Given the description of an element on the screen output the (x, y) to click on. 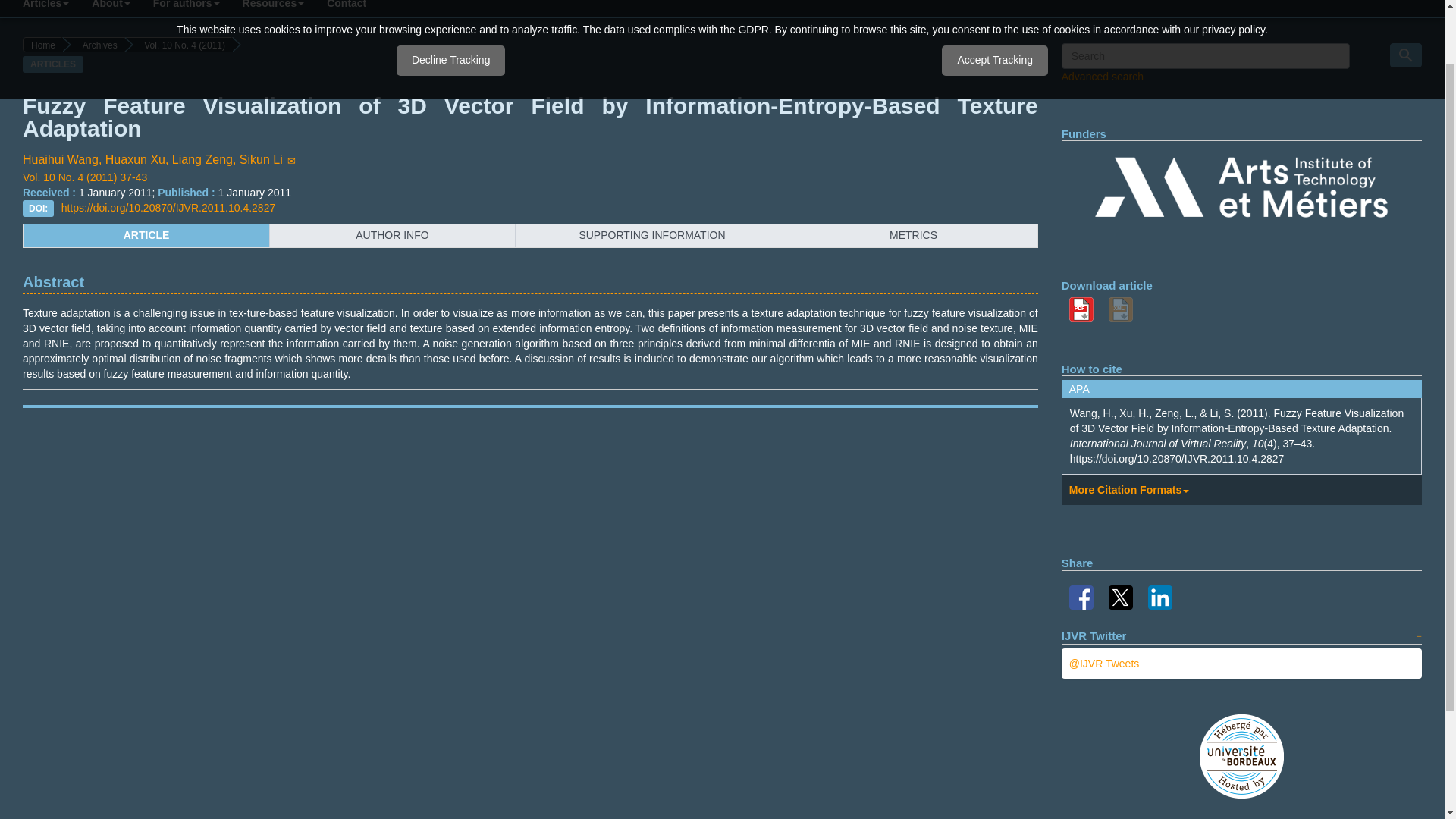
Articles (45, 8)
Share on X (1120, 596)
Huaxun Xu,  (137, 159)
Sikun Li (269, 159)
METRICS (912, 235)
Add to LinkedIn (1160, 596)
Archives (93, 44)
For authors (186, 8)
AUTHOR INFO (392, 235)
Liang Zeng,  (205, 159)
SUPPORTING INFORMATION (652, 235)
ARTICLE (146, 235)
Resources (273, 8)
Share on Facebook (1080, 596)
Huaihui Wang,  (63, 159)
